Given the description of an element on the screen output the (x, y) to click on. 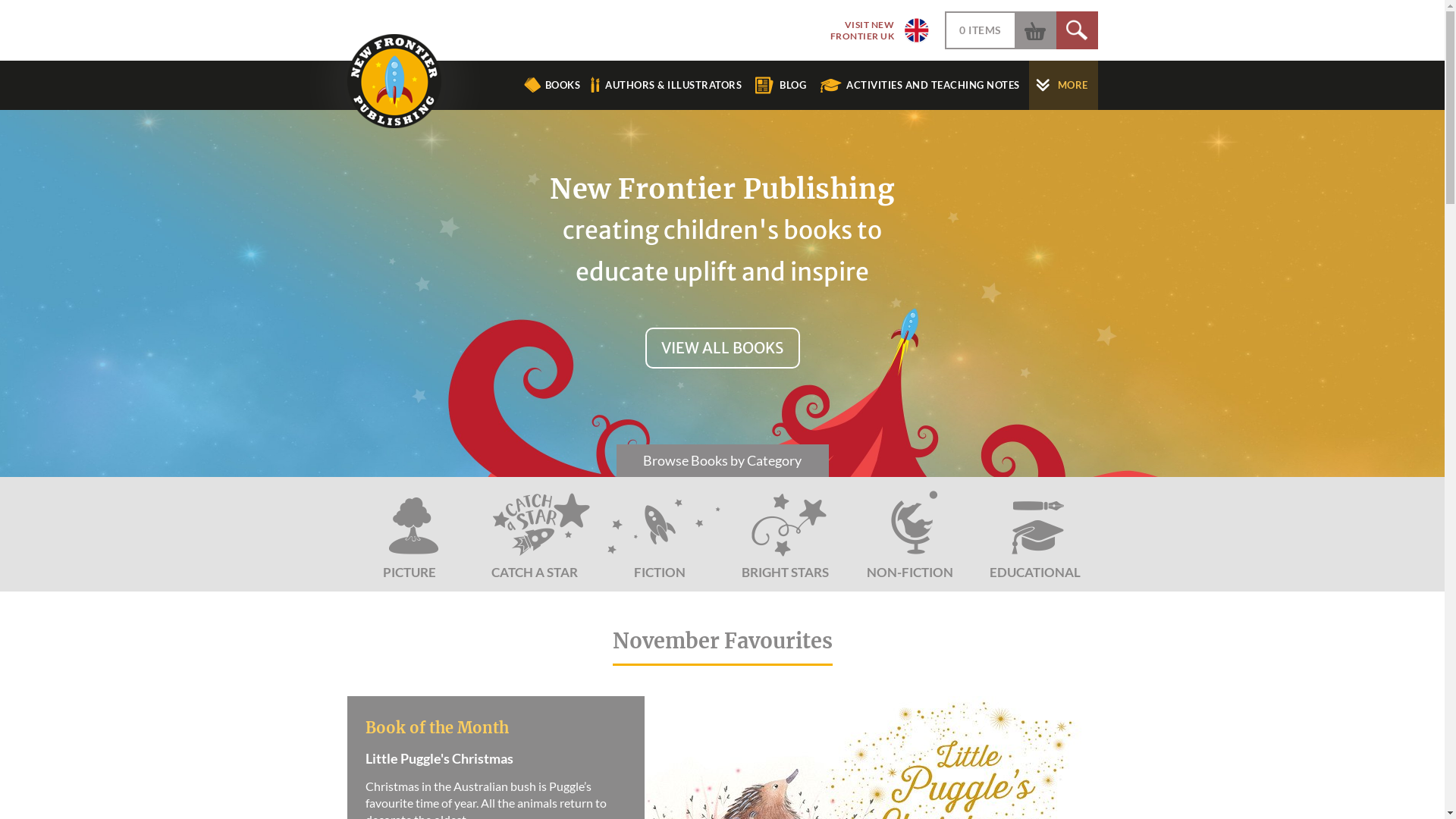
BRIGHT STARS Element type: text (784, 533)
CATCH A STAR Element type: text (533, 533)
VIEW ALL BOOKS Element type: text (721, 347)
ACTIVITIES AND TEACHING NOTES Element type: text (924, 84)
NON-FICTION Element type: text (909, 533)
AUTHORS & ILLUSTRATORS Element type: text (667, 84)
BOOKS Element type: text (551, 84)
Little Puggle's Christmas Element type: text (490, 769)
PICTURE Element type: text (409, 533)
0 ITEMS Element type: text (980, 29)
FICTION Element type: text (659, 533)
VISIT NEW
FRONTIER UK Element type: text (873, 30)
EDUCATIONAL Element type: text (1034, 533)
BLOG Element type: text (785, 84)
